Given the description of an element on the screen output the (x, y) to click on. 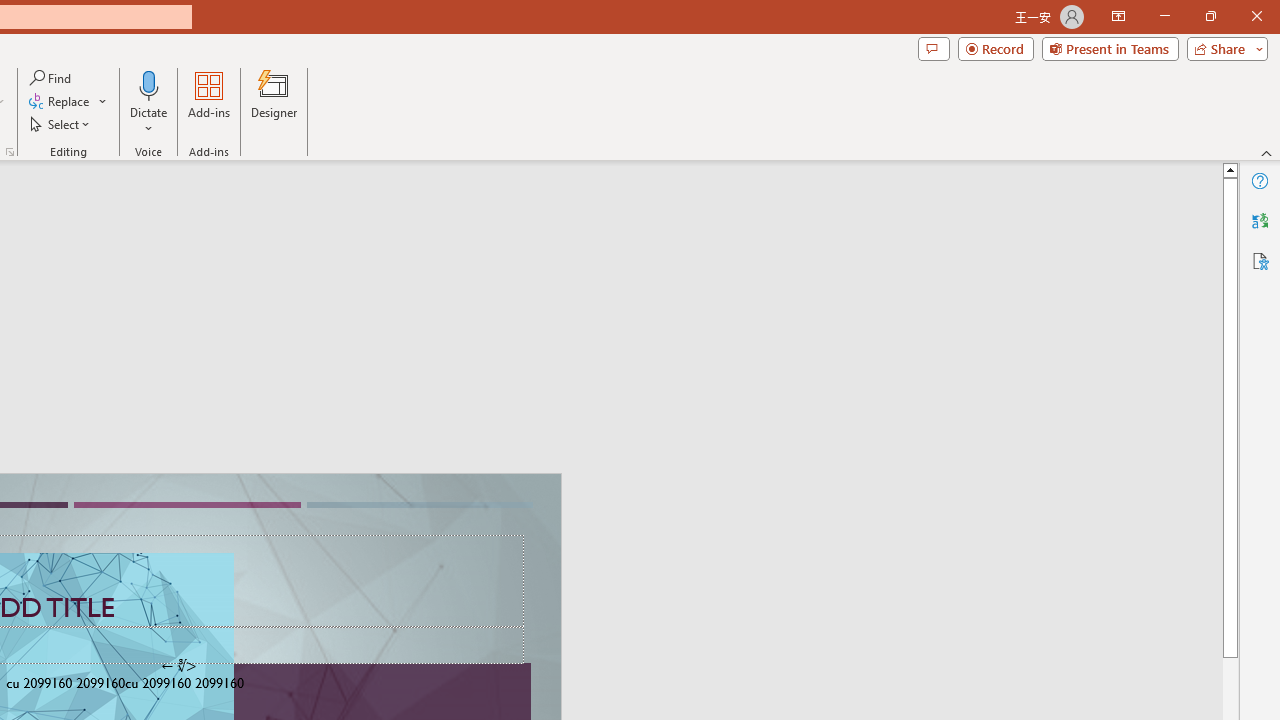
TextBox 7 (178, 666)
